Given the description of an element on the screen output the (x, y) to click on. 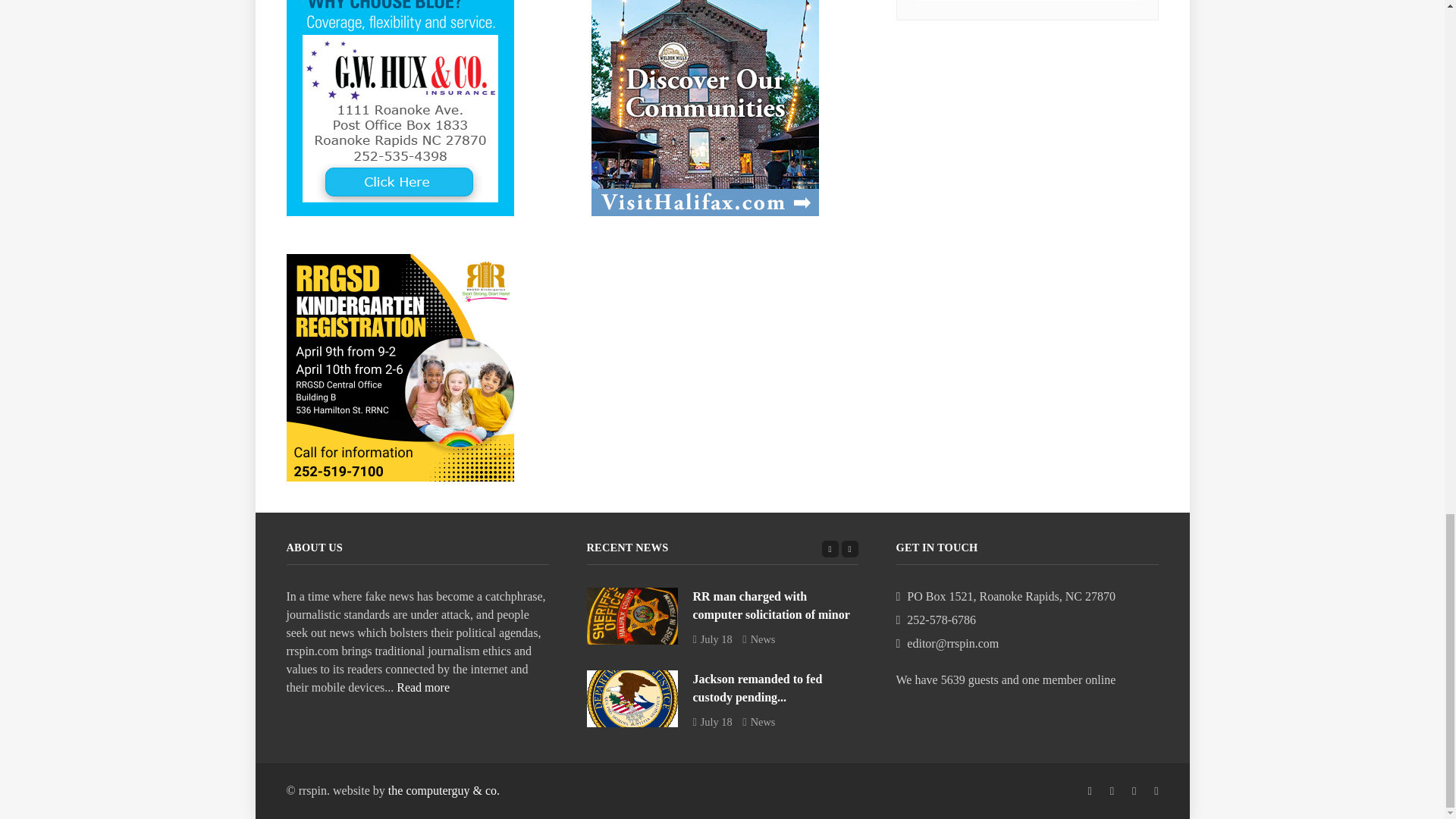
RRGSD Kindergarten Registration (399, 366)
GW Hux (399, 101)
Visit Halifax Discover Our Communities (704, 101)
